Given the description of an element on the screen output the (x, y) to click on. 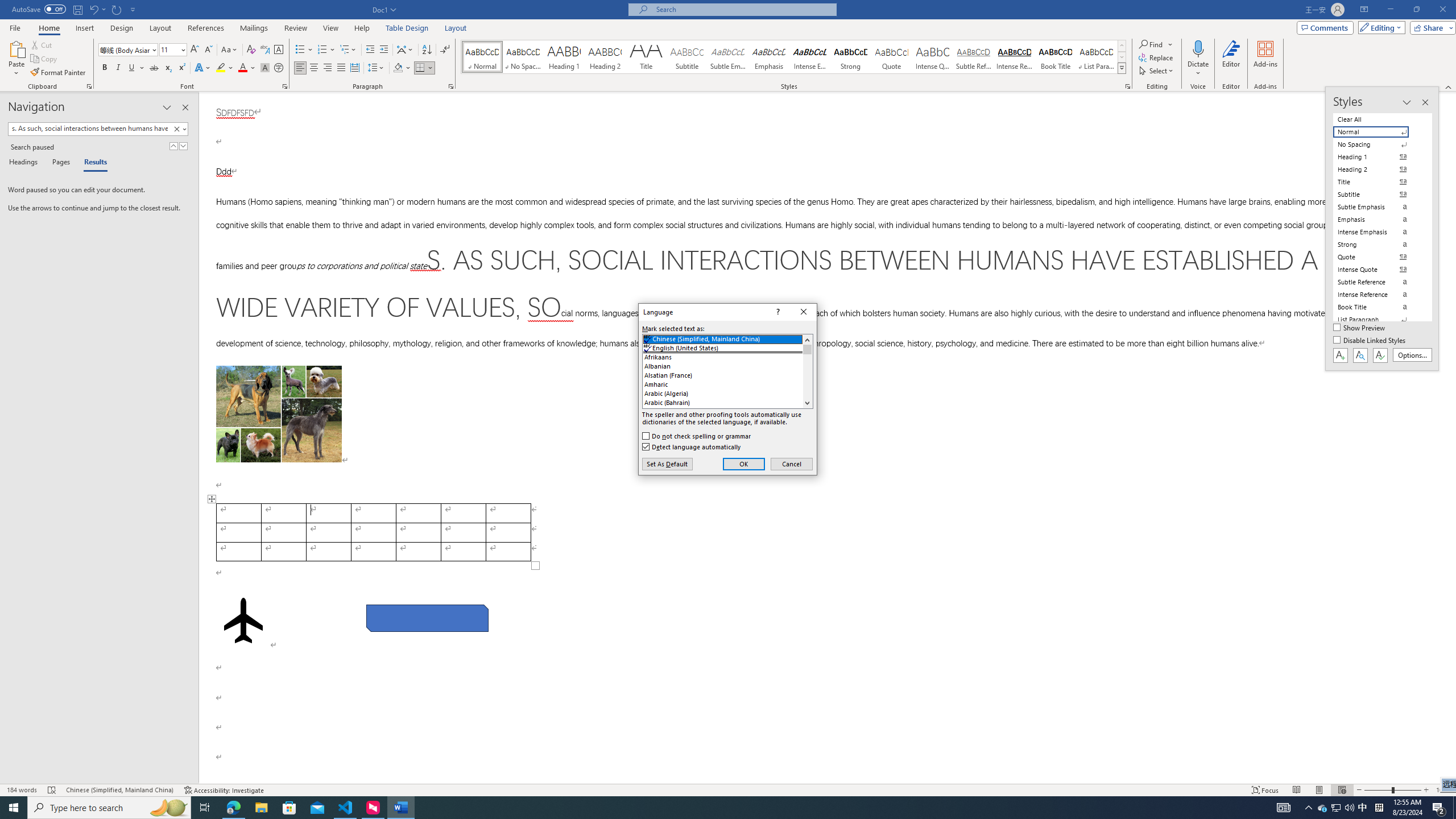
OK (743, 463)
Running applications (700, 807)
Clear (178, 128)
